Given the description of an element on the screen output the (x, y) to click on. 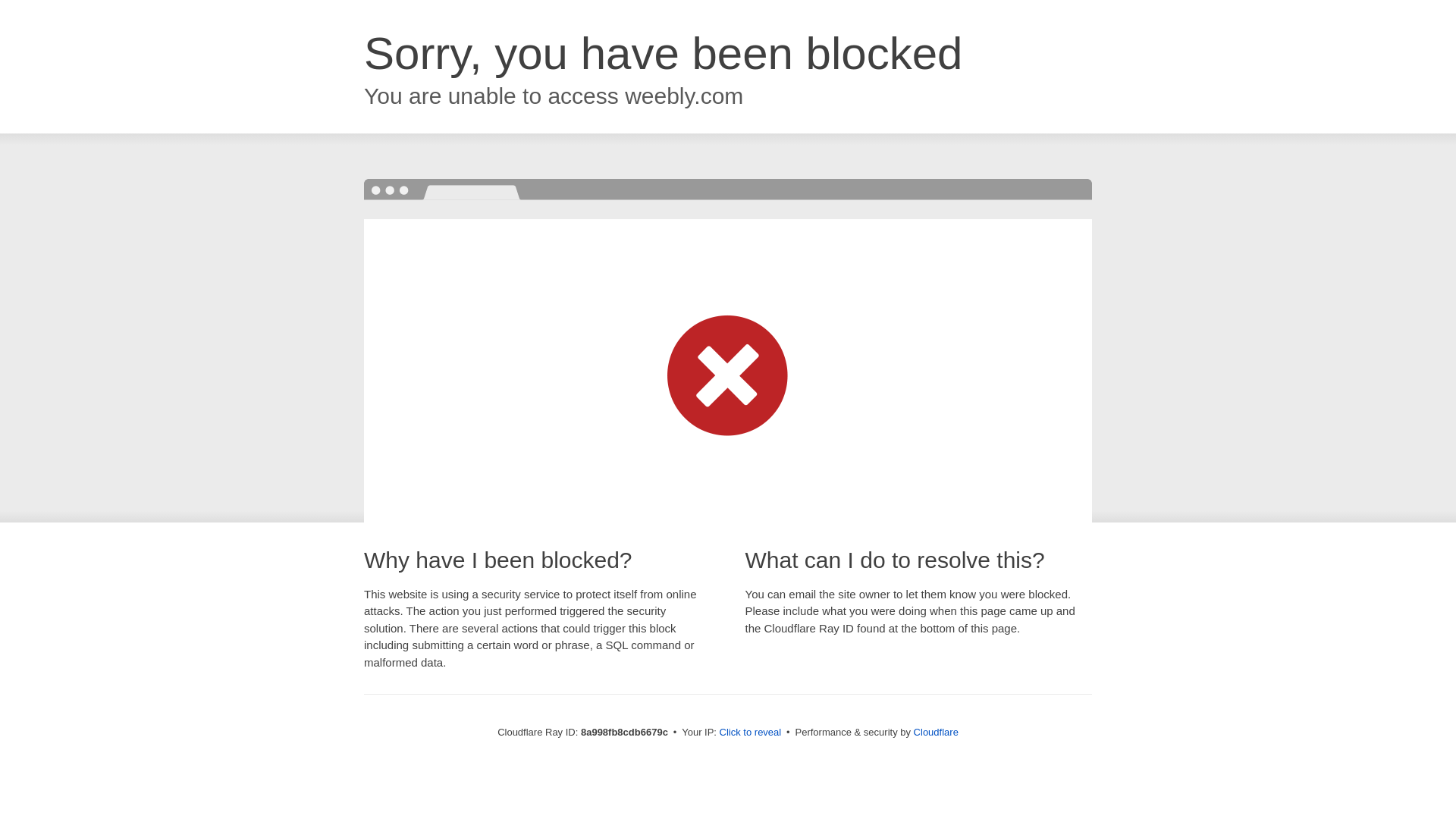
Cloudflare (936, 731)
Click to reveal (750, 732)
